Given the description of an element on the screen output the (x, y) to click on. 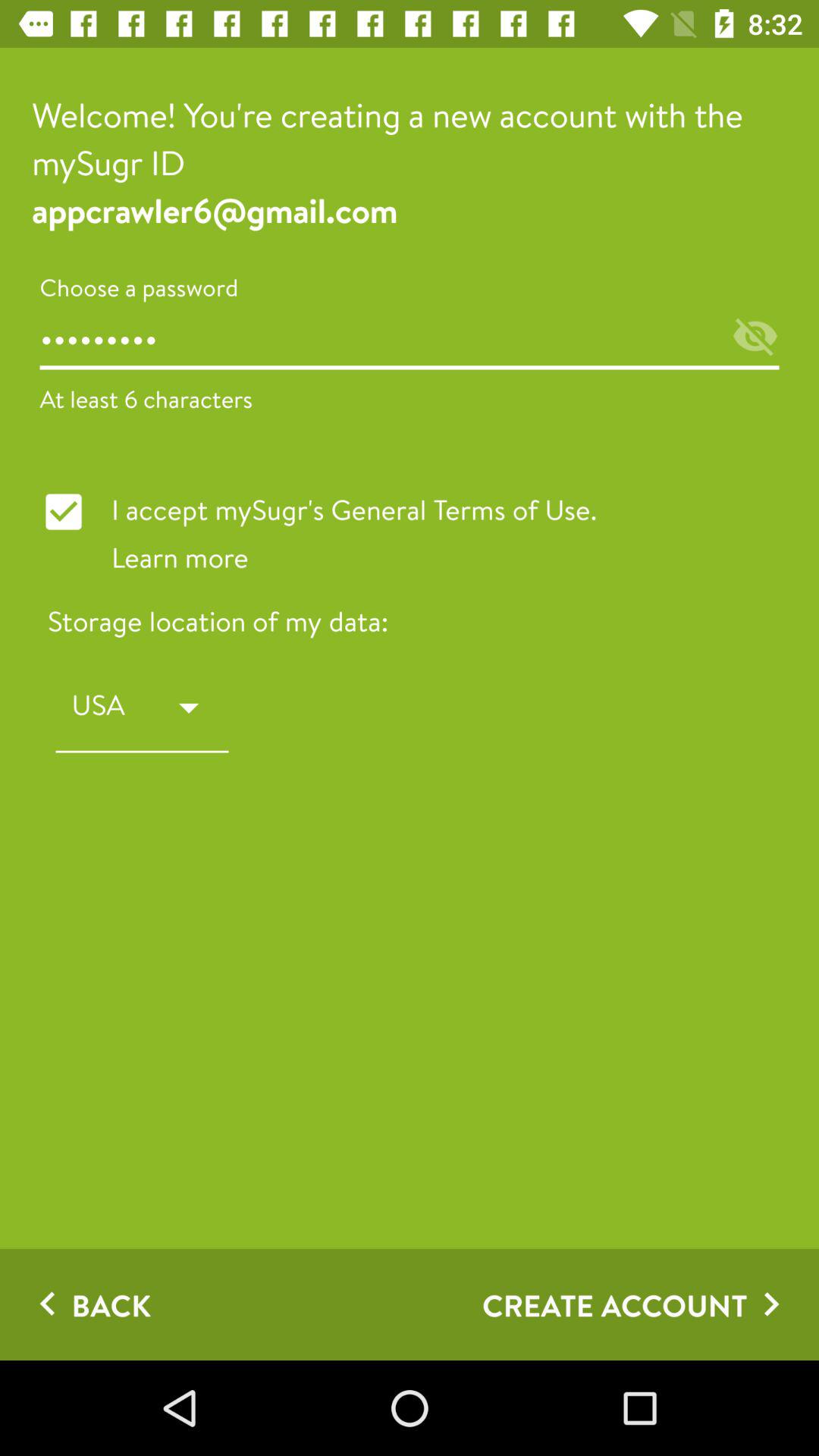
hide/view password (755, 337)
